Given the description of an element on the screen output the (x, y) to click on. 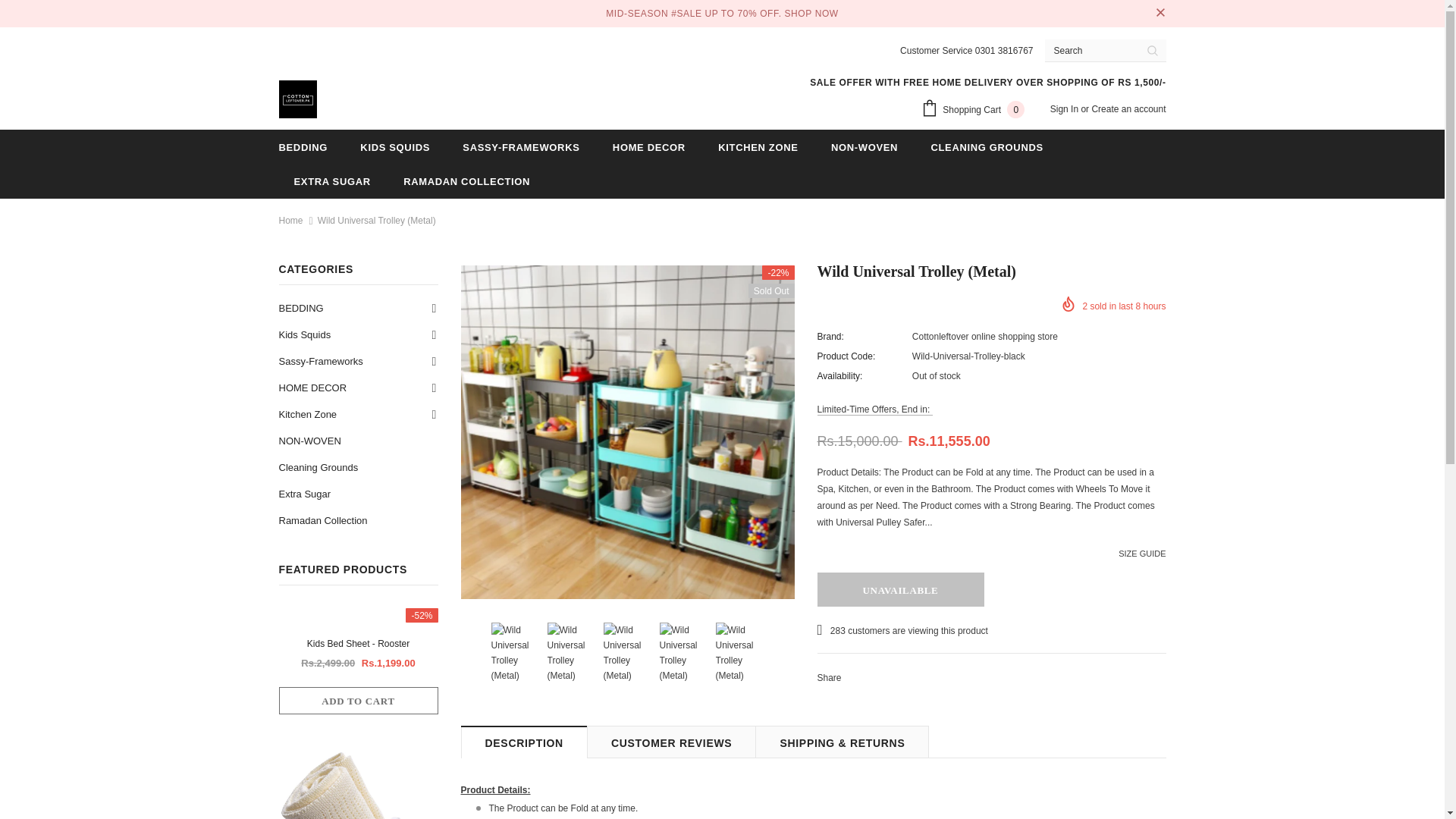
BEDDING (304, 146)
Shopping Cart 0 (976, 110)
Sign In (1065, 109)
Unavailable (900, 589)
close (1160, 13)
Create an account (1128, 109)
